Given the description of an element on the screen output the (x, y) to click on. 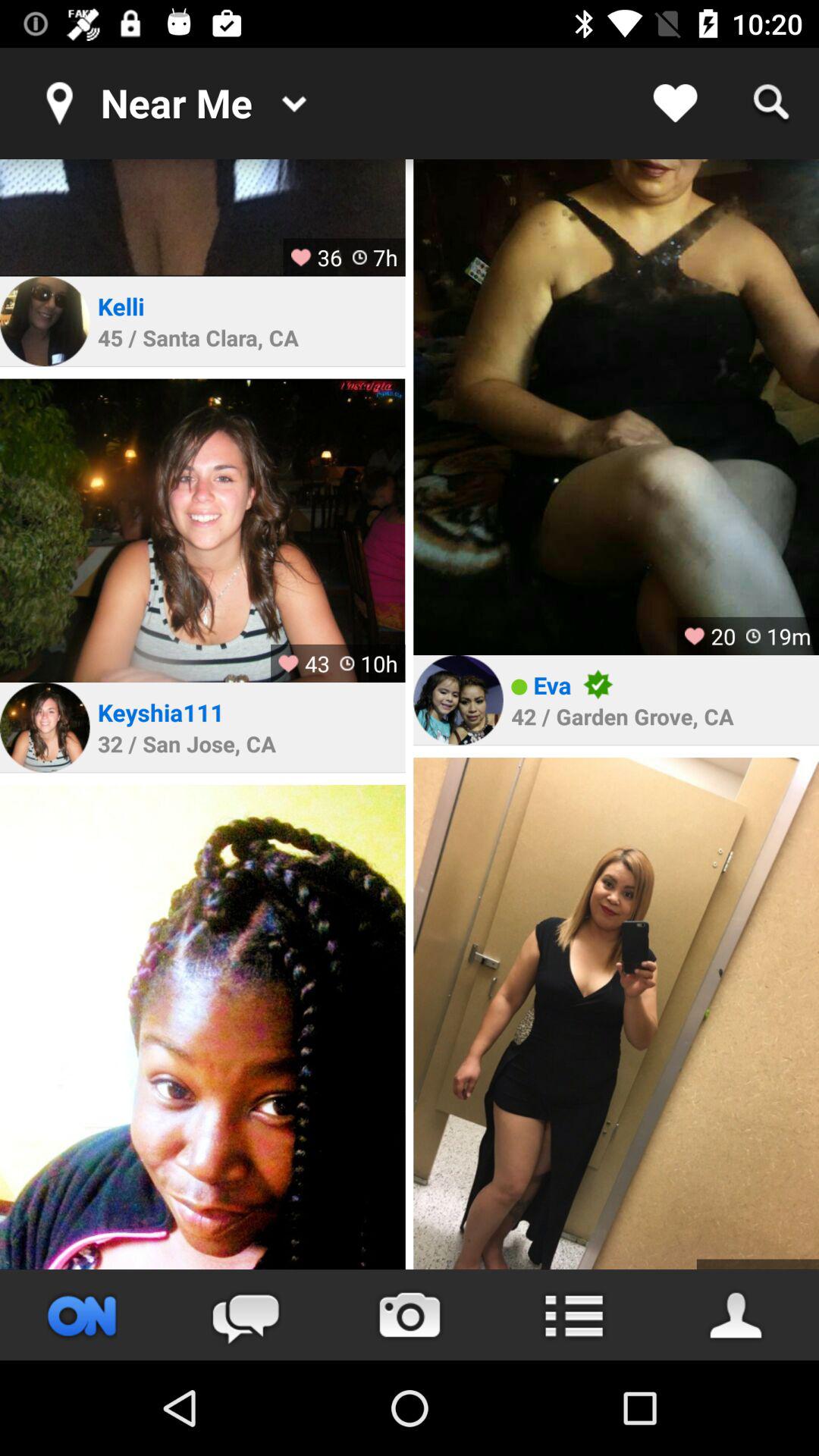
select the image (202, 217)
